Given the description of an element on the screen output the (x, y) to click on. 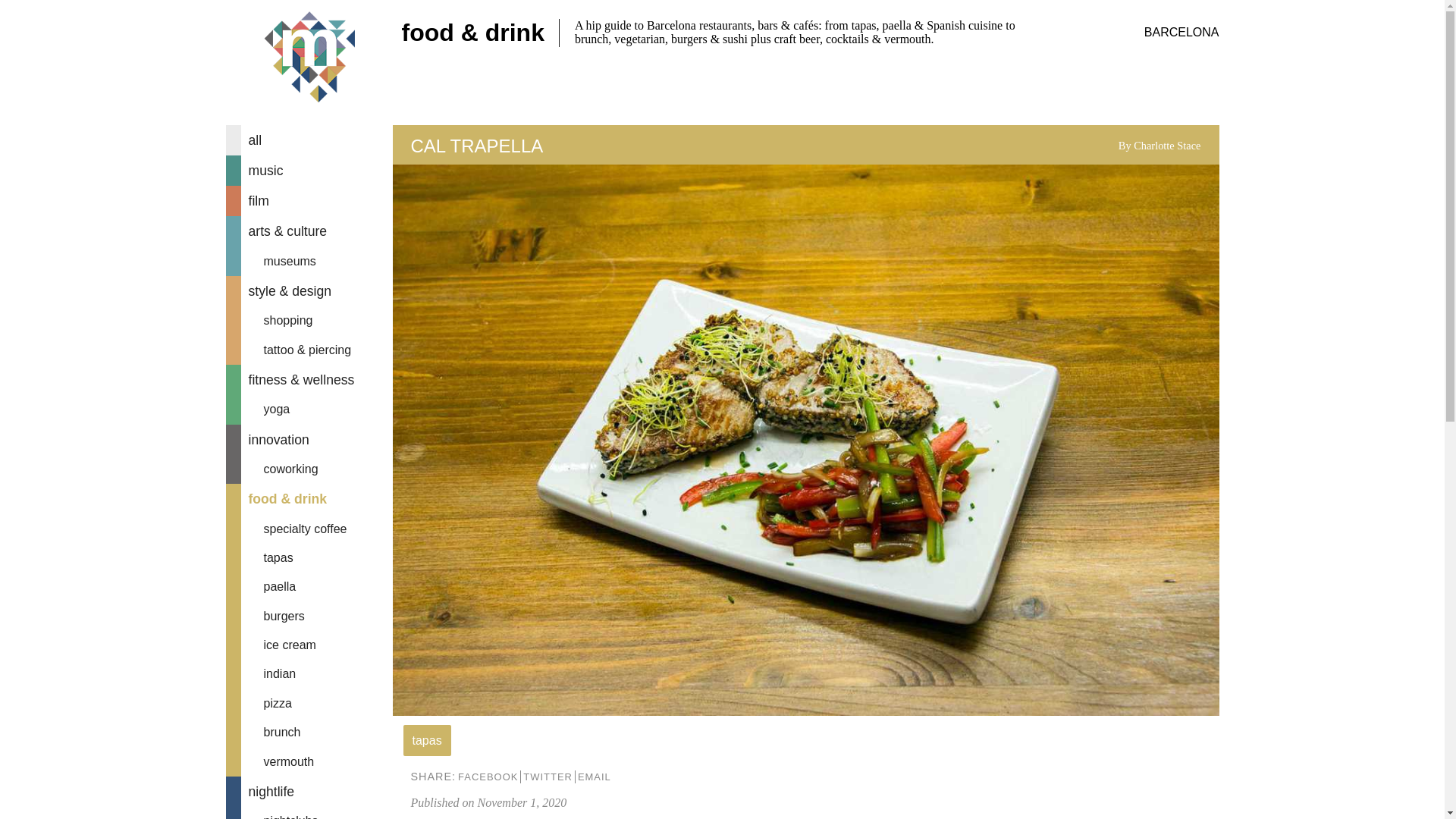
pizza (309, 703)
nightclubs (309, 812)
coworking (309, 469)
burgers (309, 615)
brunch (309, 732)
shopping (309, 320)
all (309, 140)
tapas (427, 739)
ice cream (309, 645)
innovation (309, 440)
tapas (309, 557)
specialty coffee (309, 528)
film (309, 200)
music (309, 170)
museums (309, 261)
